Given the description of an element on the screen output the (x, y) to click on. 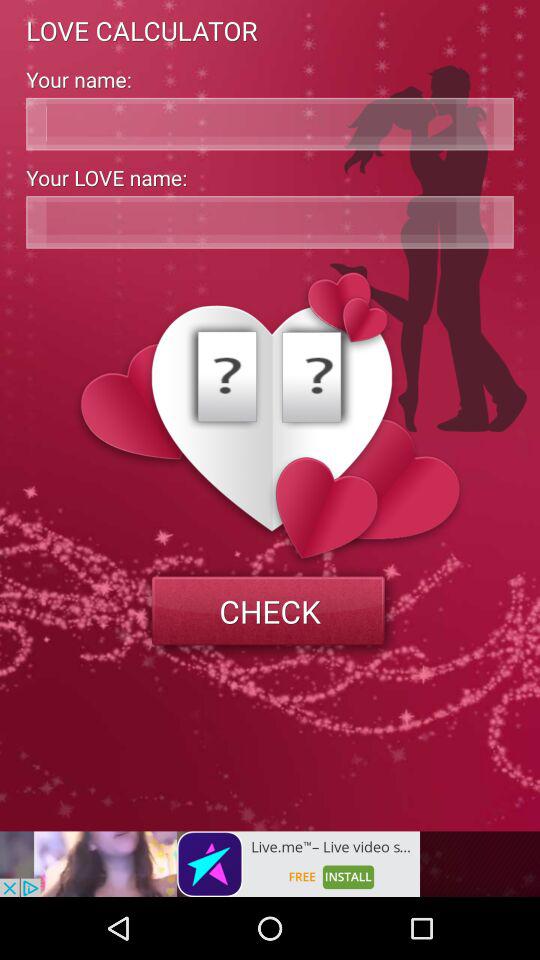
enter your username (269, 123)
